Given the description of an element on the screen output the (x, y) to click on. 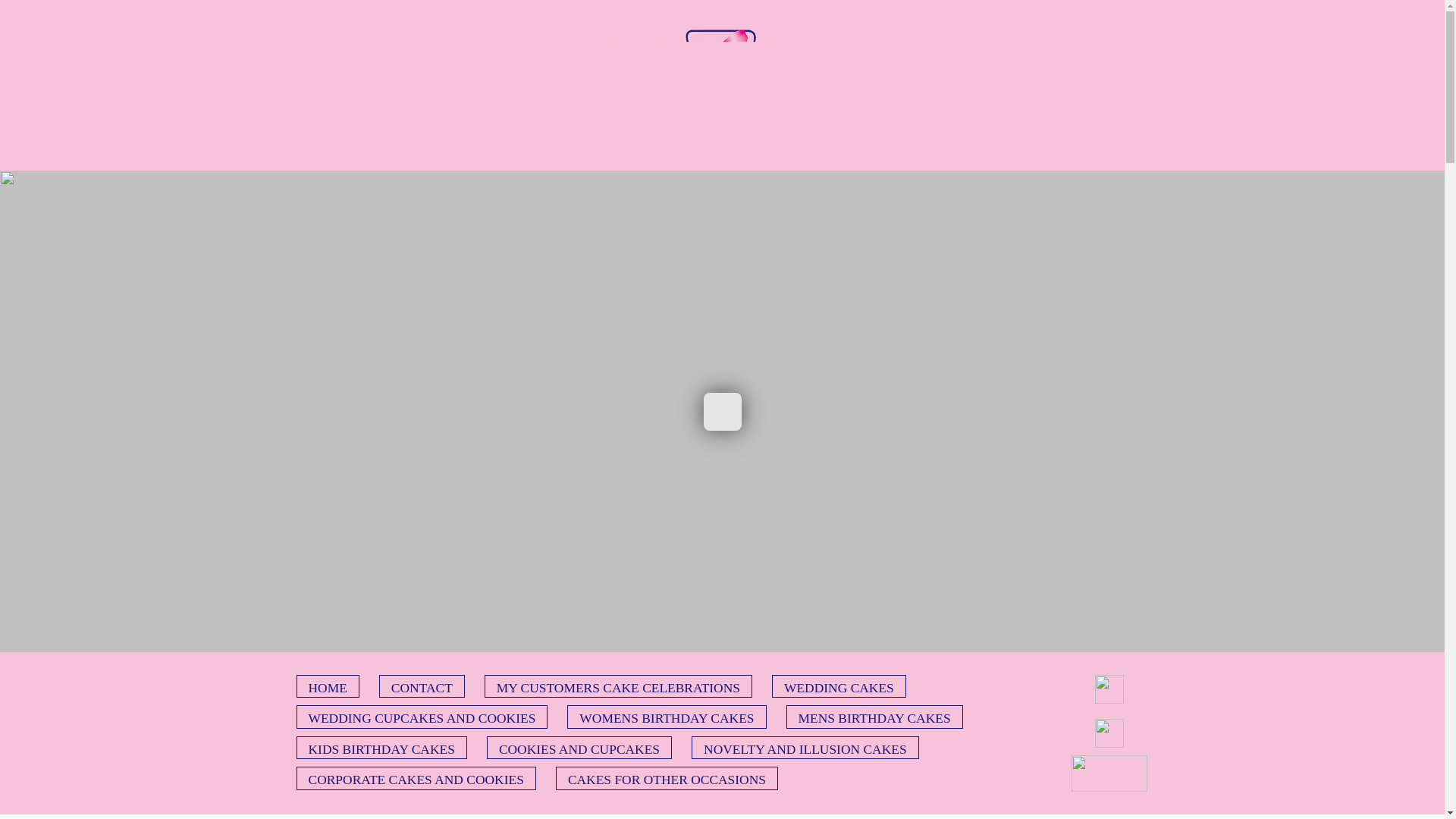
WOMENS BIRTHDAY CAKES (666, 716)
WEDDING CUPCAKES AND COOKIES (421, 716)
CAKES FOR OTHER OCCASIONS (666, 777)
CONTACT (421, 685)
KIDS BIRTHDAY CAKES (380, 747)
COOKIES AND CUPCAKES (578, 747)
CORPORATE CAKES AND COOKIES (415, 777)
HOME (326, 685)
MENS BIRTHDAY CAKES (874, 716)
MY CUSTOMERS CAKE CELEBRATIONS (618, 685)
